Given the description of an element on the screen output the (x, y) to click on. 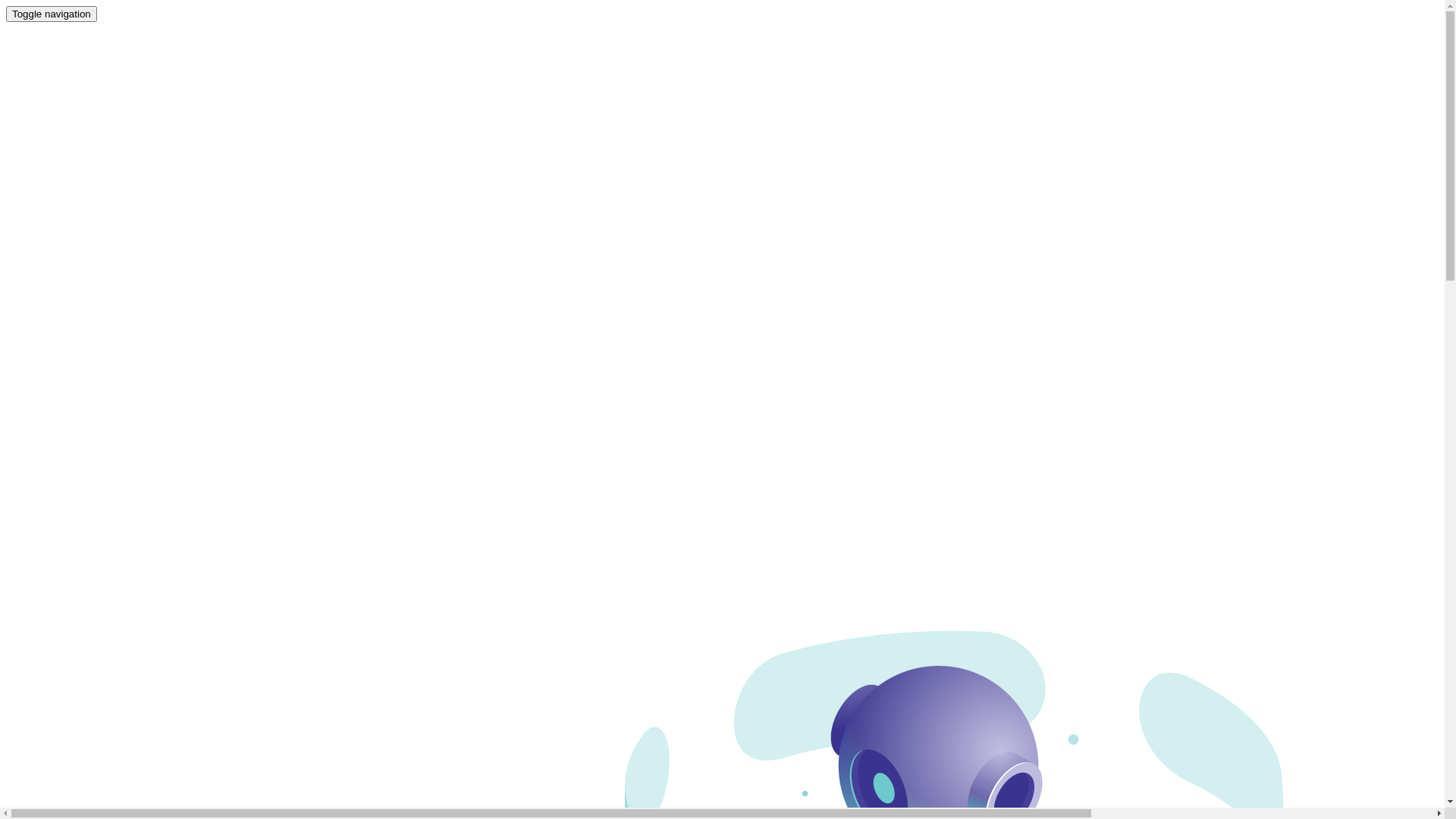
Toggle navigation Element type: text (51, 13)
